Given the description of an element on the screen output the (x, y) to click on. 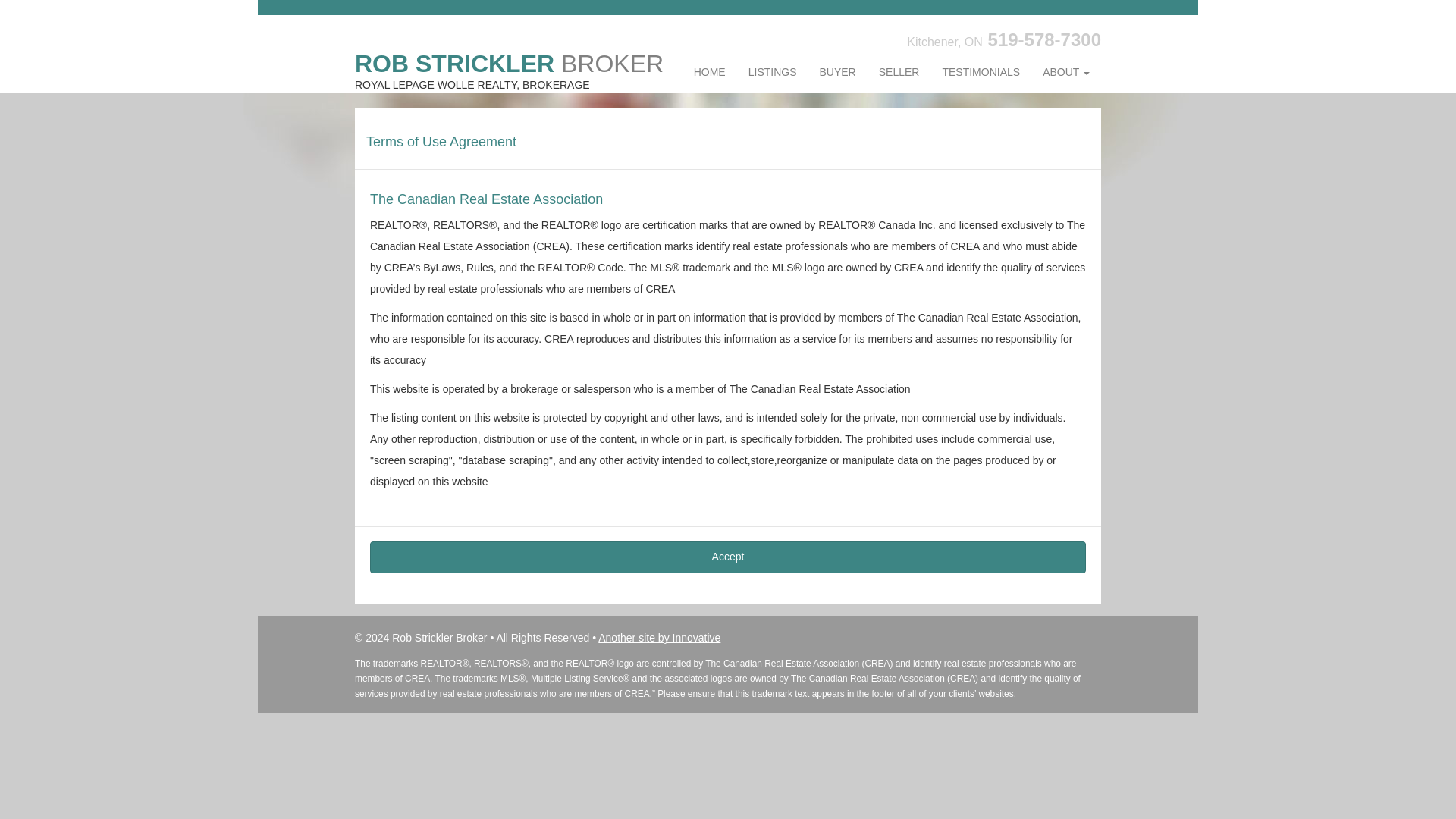
SELLER (899, 73)
TESTIMONIALS (980, 73)
LISTINGS (772, 73)
BUYER (837, 73)
ROB STRICKLER BROKER (509, 58)
ABOUT (1065, 73)
519-578-7300 (1044, 39)
HOME (709, 73)
